Given the description of an element on the screen output the (x, y) to click on. 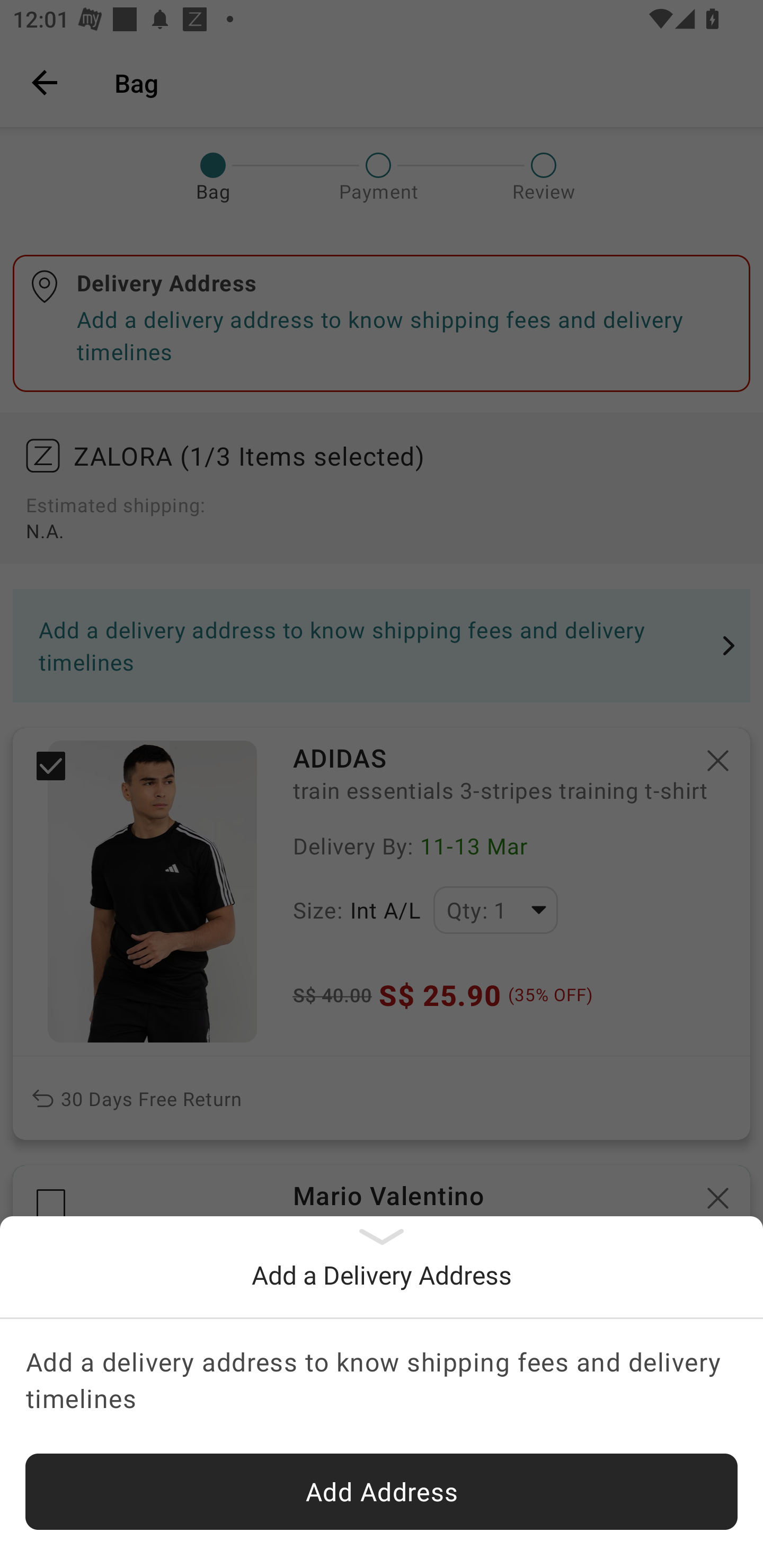
Add Address (381, 1491)
